Given the description of an element on the screen output the (x, y) to click on. 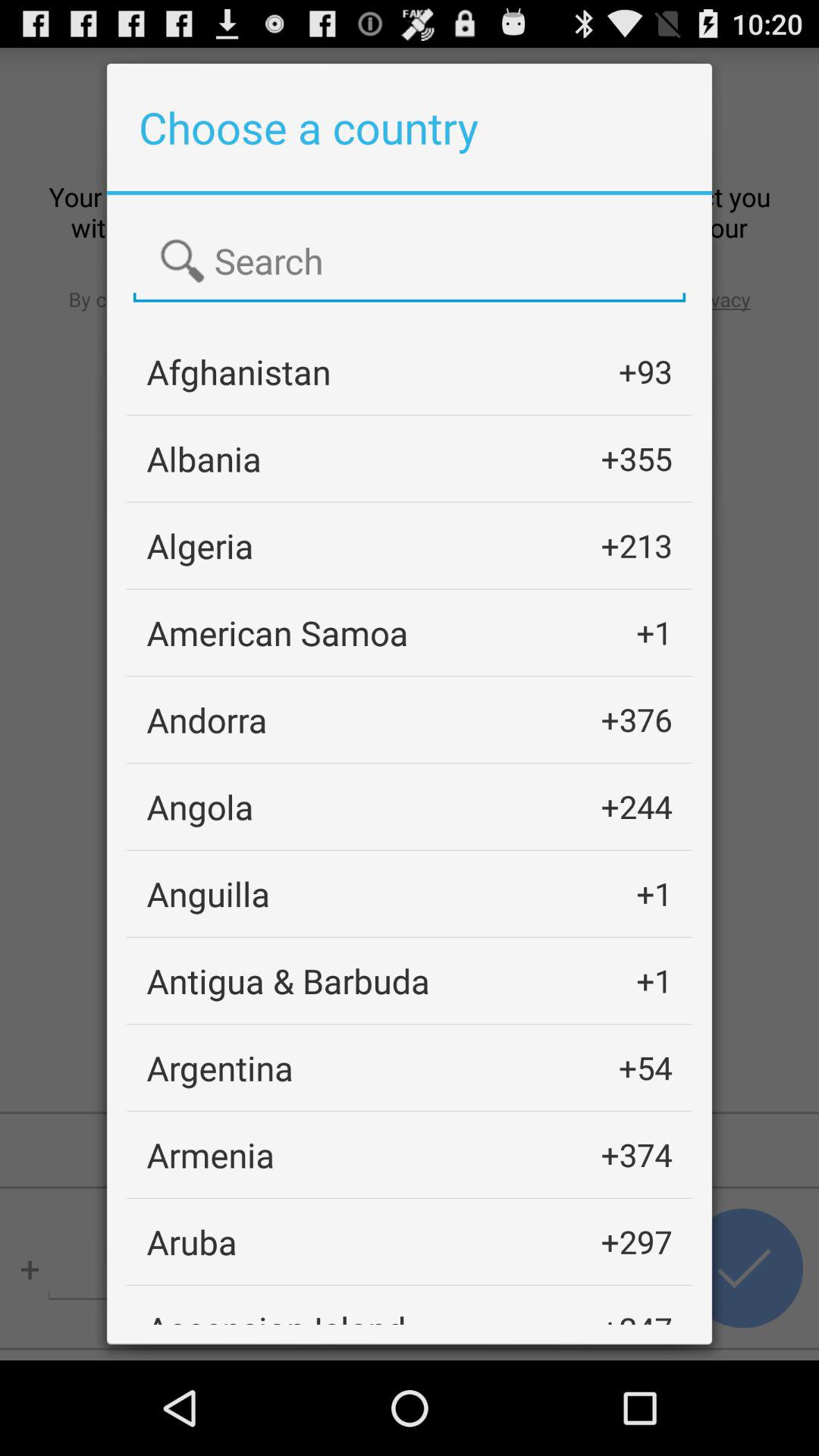
click app above american samoa (199, 545)
